Given the description of an element on the screen output the (x, y) to click on. 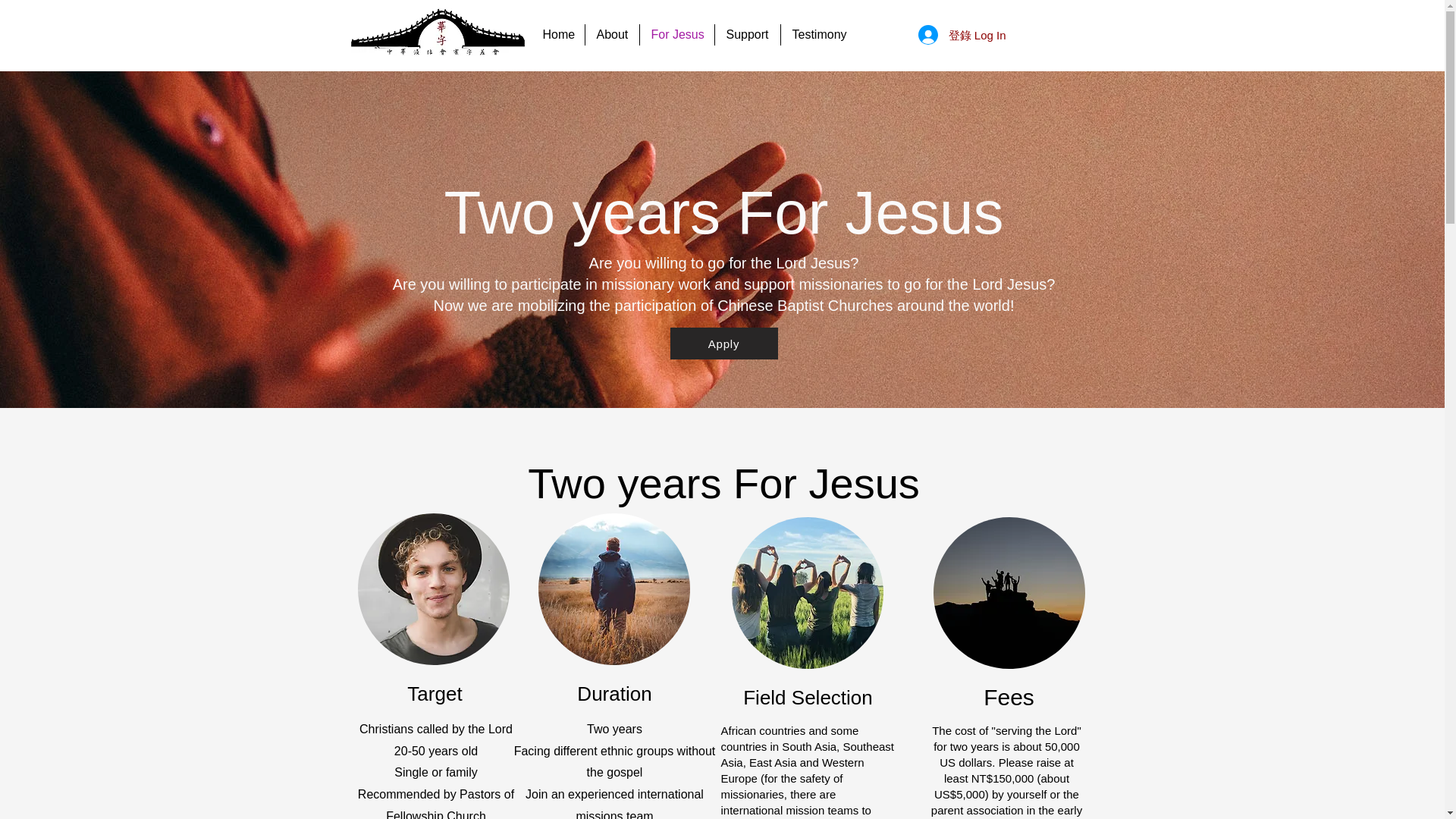
For Jesus (677, 34)
Testimony (818, 34)
About (612, 34)
Support (746, 34)
Apply (723, 343)
Home (557, 34)
